Given the description of an element on the screen output the (x, y) to click on. 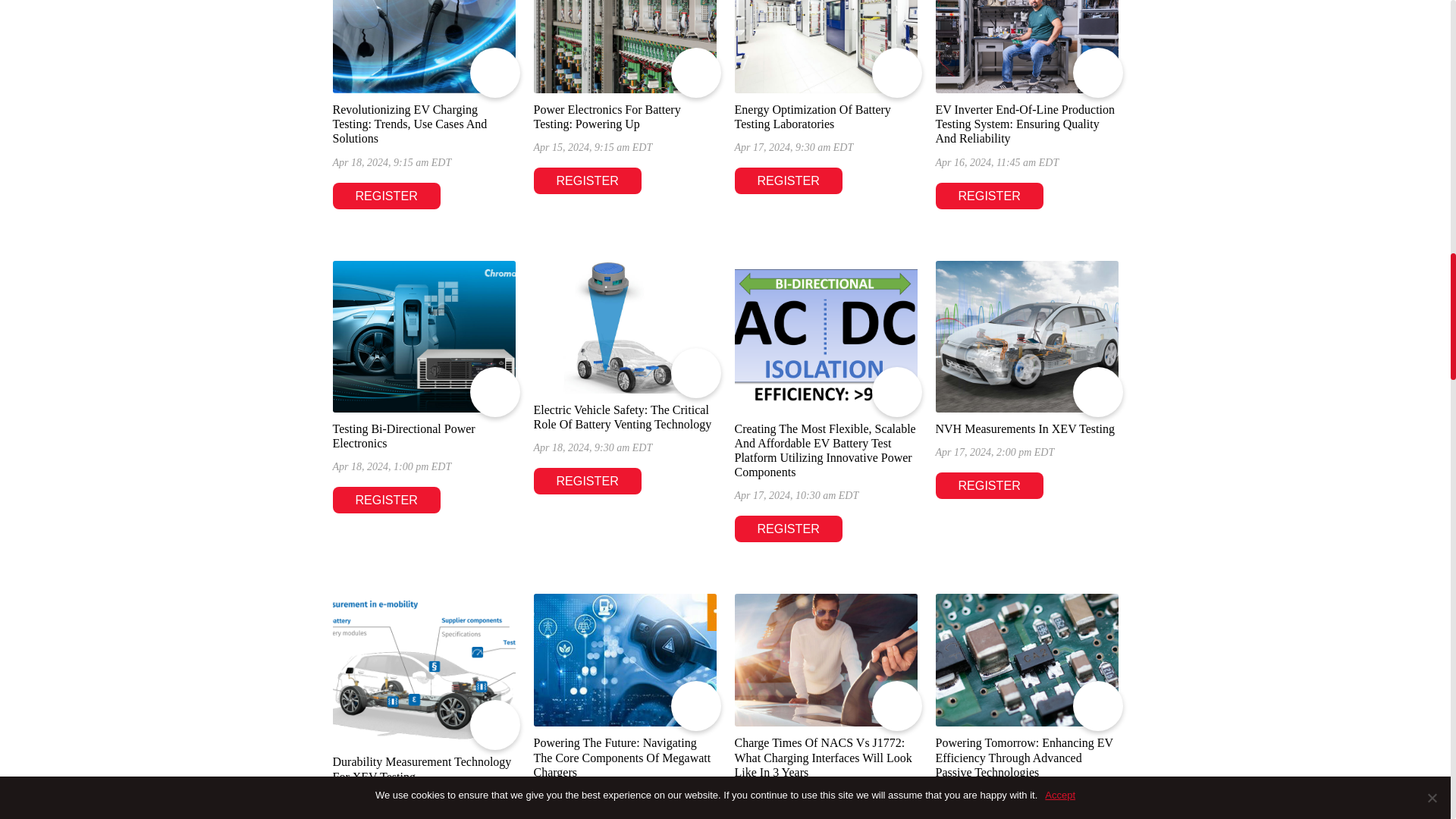
Register (385, 499)
Register (989, 195)
Energy Optimization Of Battery Testing Laboratories (825, 46)
Register (385, 195)
Power Electronics For Battery Testing: Powering Up (625, 46)
Energy Optimization Of Battery Testing Laboratories (811, 116)
Testing Bi-Directional Power Electronics (402, 435)
Register (787, 180)
Testing Bi-Directional Power Electronics (423, 336)
Power Electronics For Battery Testing: Powering Up (607, 116)
